Given the description of an element on the screen output the (x, y) to click on. 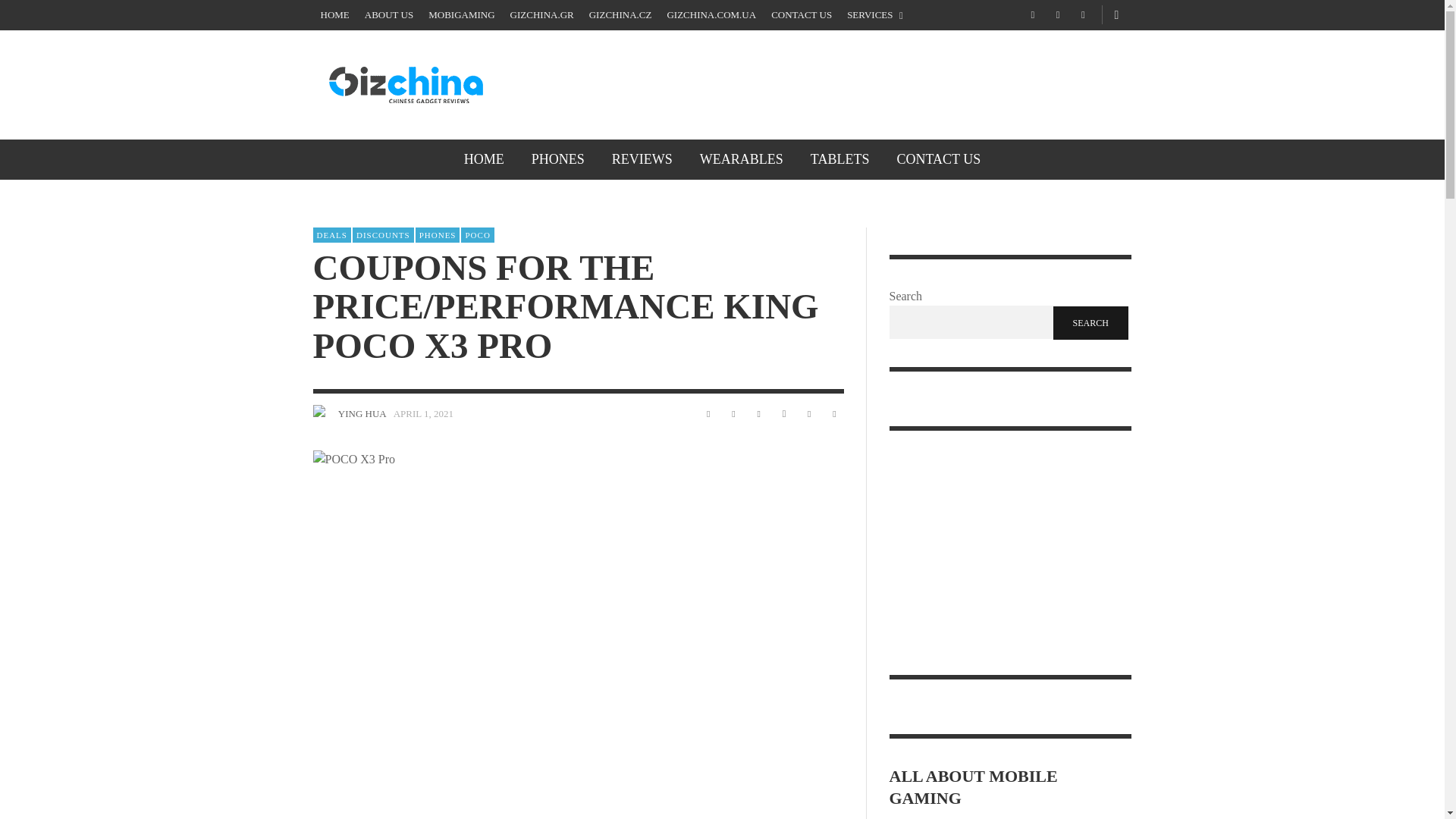
HOME (483, 159)
MOBIGAMING (461, 15)
GIZCHINA.GR (541, 15)
SERVICES (875, 15)
GIZCHINA.COM.UA (710, 15)
REVIEWS (641, 159)
ABOUT US (388, 15)
PHONES (558, 159)
CONTACT US (801, 15)
GIZCHINA.CZ (619, 15)
